Given the description of an element on the screen output the (x, y) to click on. 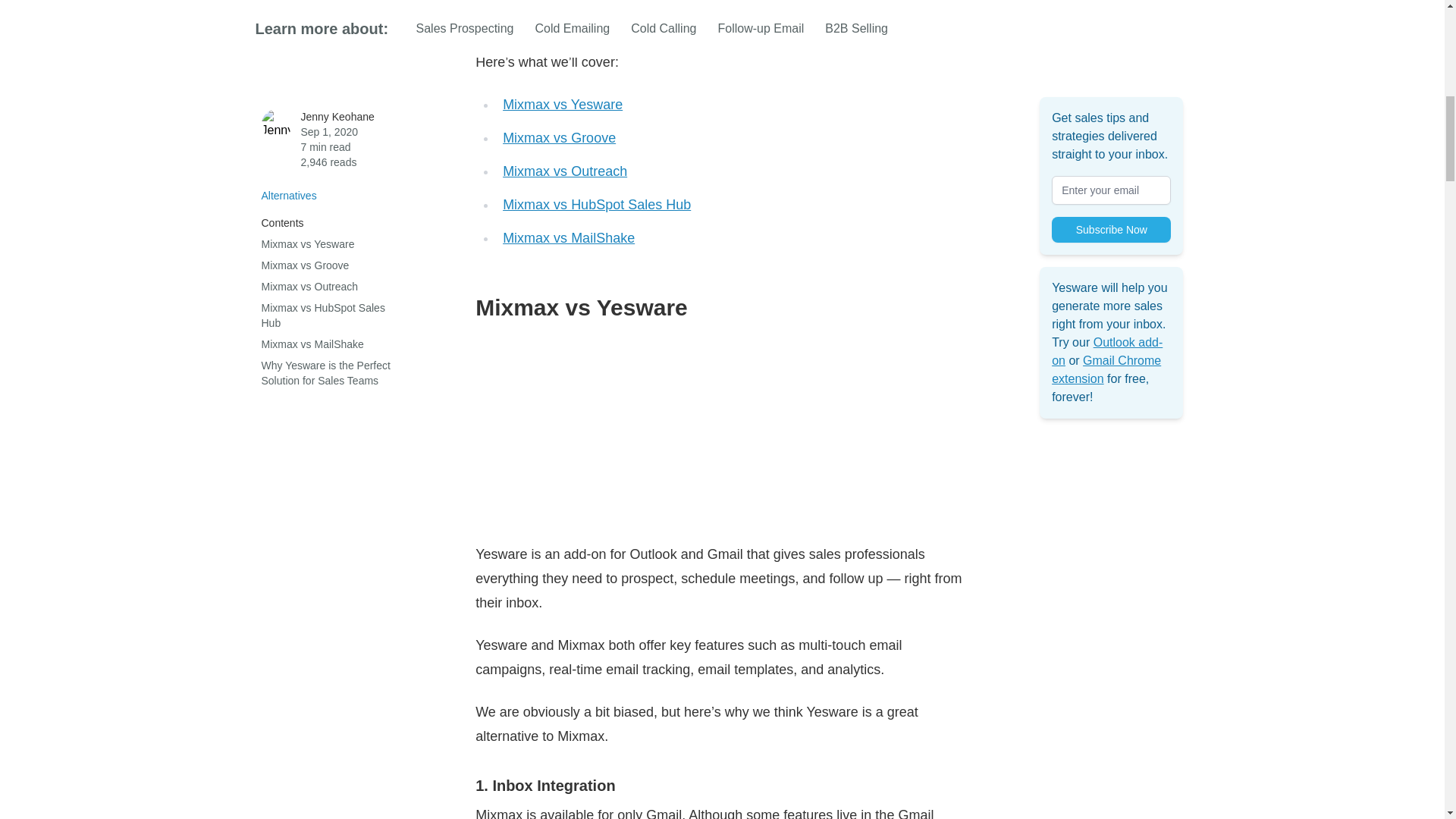
Mixmax vs MailShake (568, 237)
Mixmax vs Groove (558, 137)
Mixmax vs Yesware (562, 104)
Mixmax vs Outreach (564, 171)
Mixmax vs HubSpot Sales Hub (596, 204)
